Given the description of an element on the screen output the (x, y) to click on. 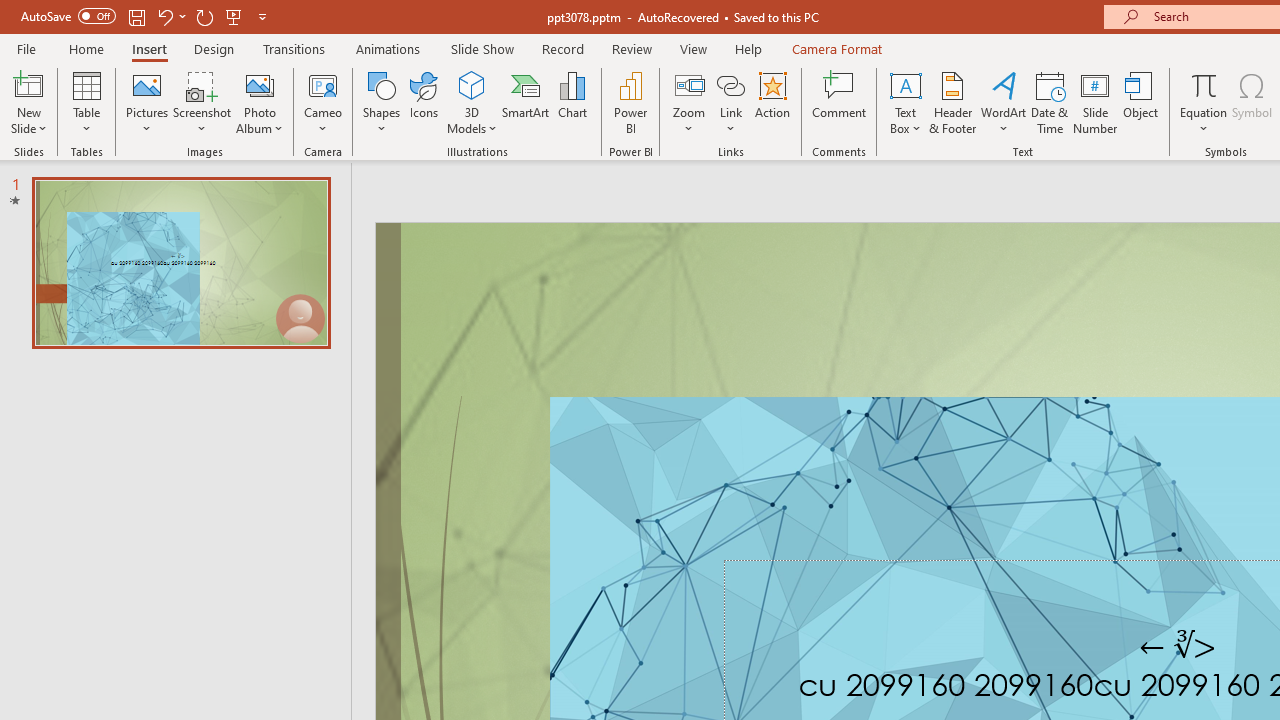
Table (86, 102)
Slide Number (1095, 102)
New Photo Album... (259, 84)
Date & Time... (1050, 102)
Object... (1141, 102)
Link (731, 102)
Power BI (630, 102)
Screenshot (202, 102)
Equation (1203, 102)
